Given the description of an element on the screen output the (x, y) to click on. 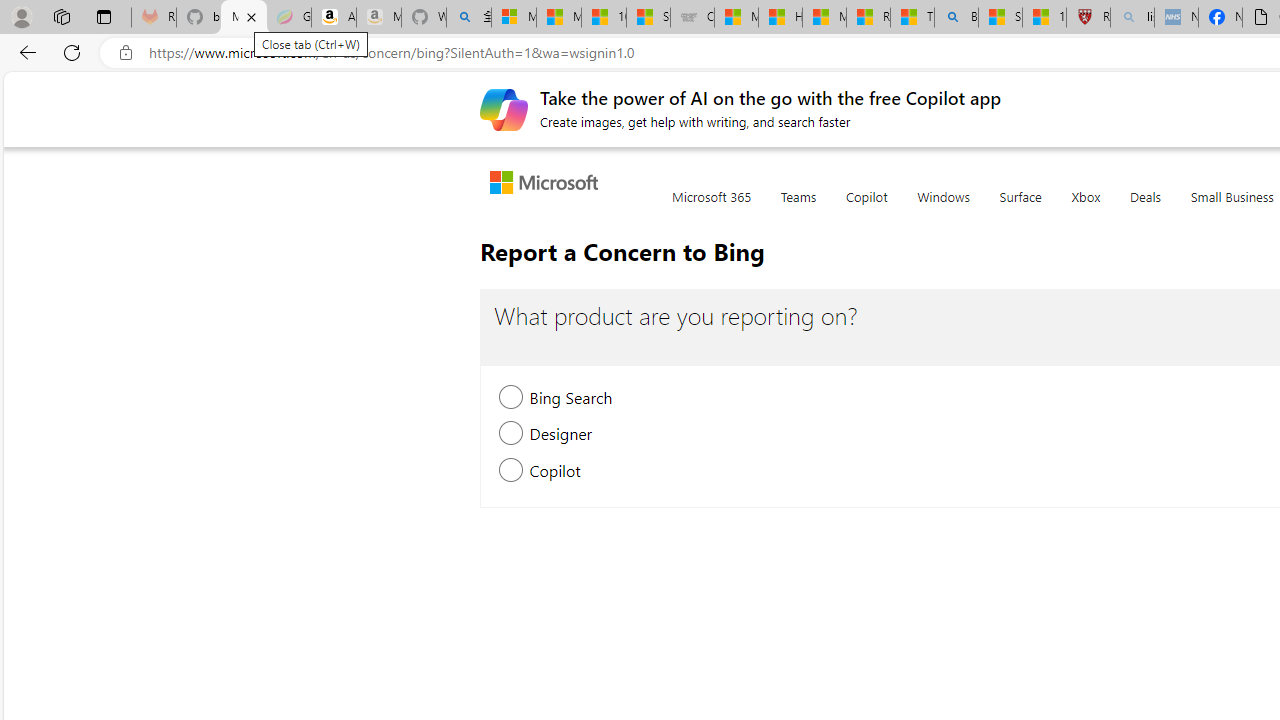
Robert H. Shmerling, MD - Harvard Health (1088, 17)
Bing (955, 17)
Xbox (1085, 207)
Deals (1145, 208)
Bing Search, new section will be expanded (511, 399)
How I Got Rid of Microsoft Edge's Unnecessary Features (780, 17)
Surface (1019, 207)
Teams (797, 207)
